Given the description of an element on the screen output the (x, y) to click on. 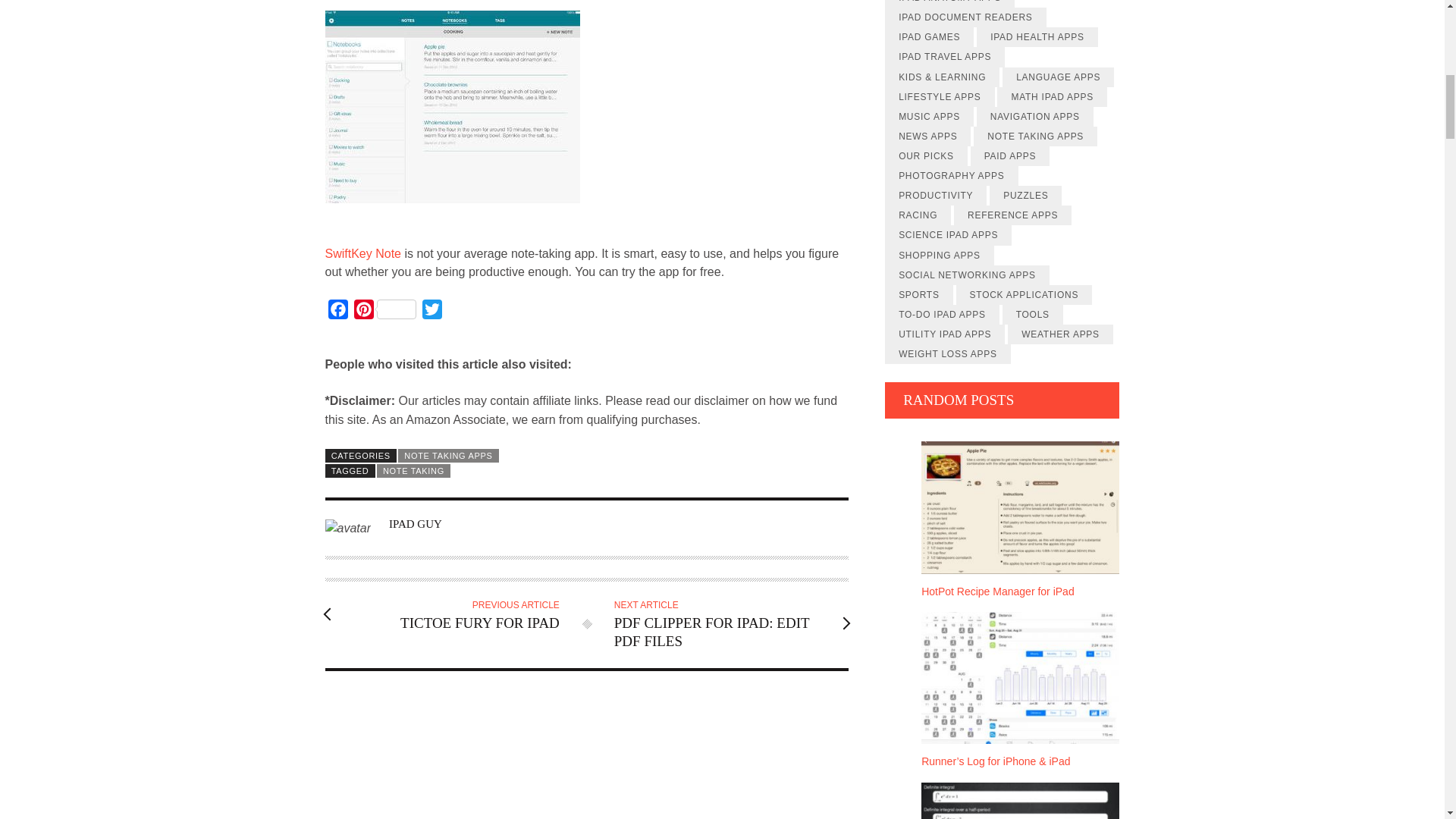
View all posts tagged note taking (413, 470)
Facebook (337, 312)
Posts by iPad guy (415, 523)
Twitter (431, 312)
View all posts in Note Taking Apps (448, 455)
Pinterest (384, 312)
